Given the description of an element on the screen output the (x, y) to click on. 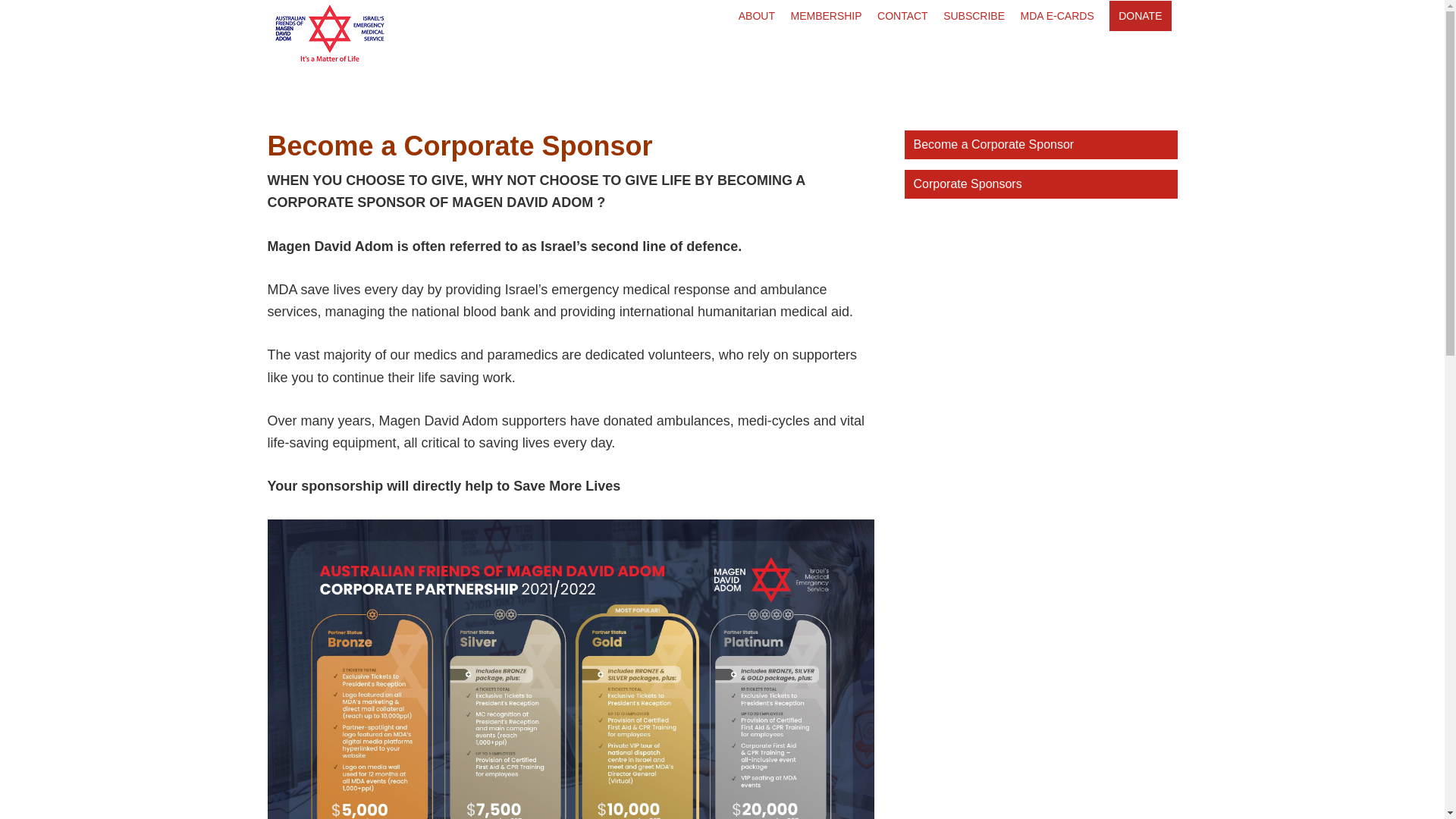
Skip to primary navigation Element type: text (0, 0)
ABOUT Element type: text (756, 16)
CONTACT Element type: text (902, 16)
MEMBERSHIP Element type: text (825, 16)
Magen David Adom Element type: text (382, 30)
Corporate Sponsors Element type: text (1039, 183)
SUBSCRIBE Element type: text (973, 16)
DONATE Element type: text (1139, 16)
Become a Corporate Sponsor Element type: text (1039, 144)
MDA E-CARDS Element type: text (1057, 16)
